Given the description of an element on the screen output the (x, y) to click on. 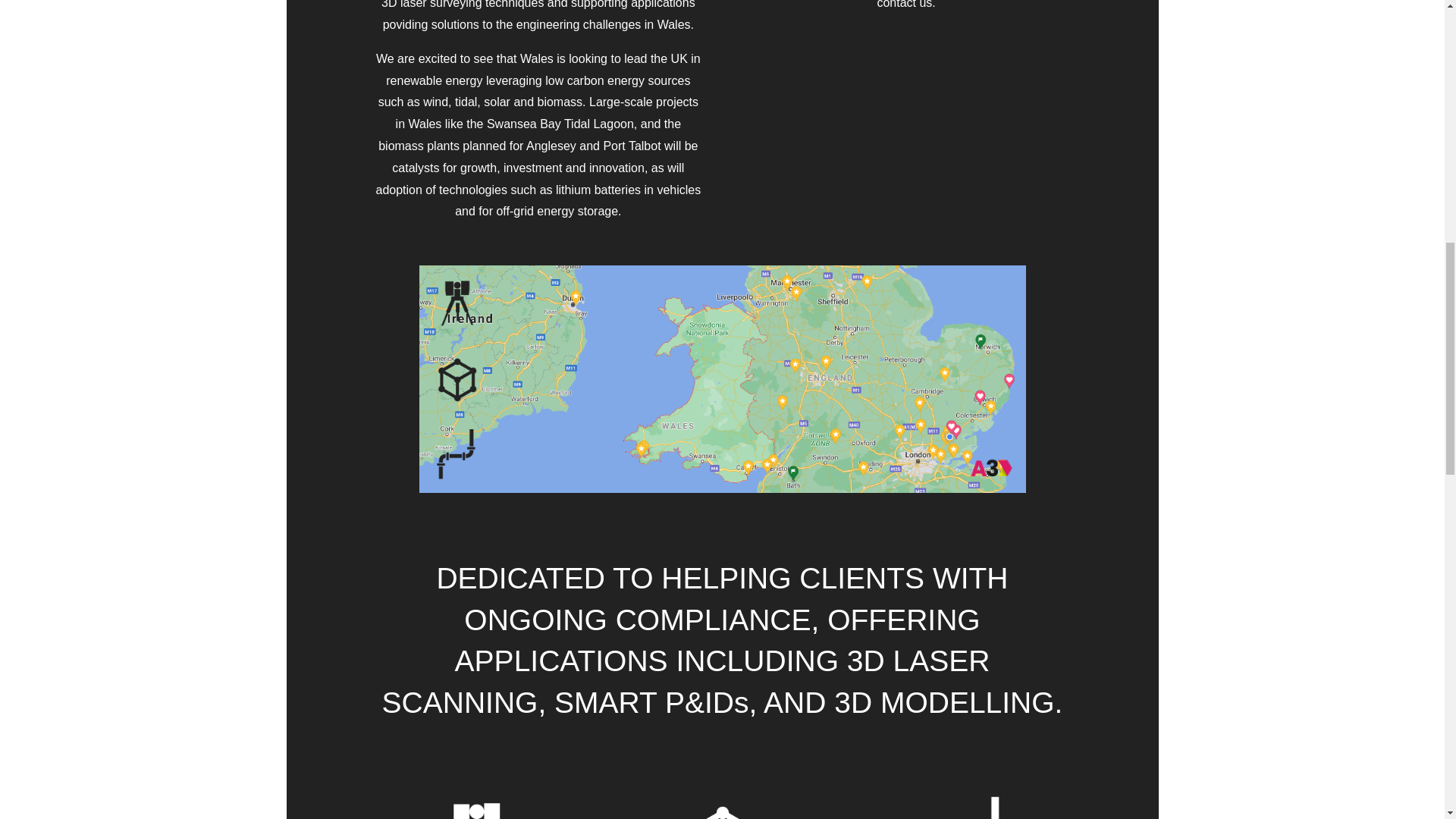
pid-white (967, 796)
laser-white (476, 796)
3d-white (721, 796)
